Given the description of an element on the screen output the (x, y) to click on. 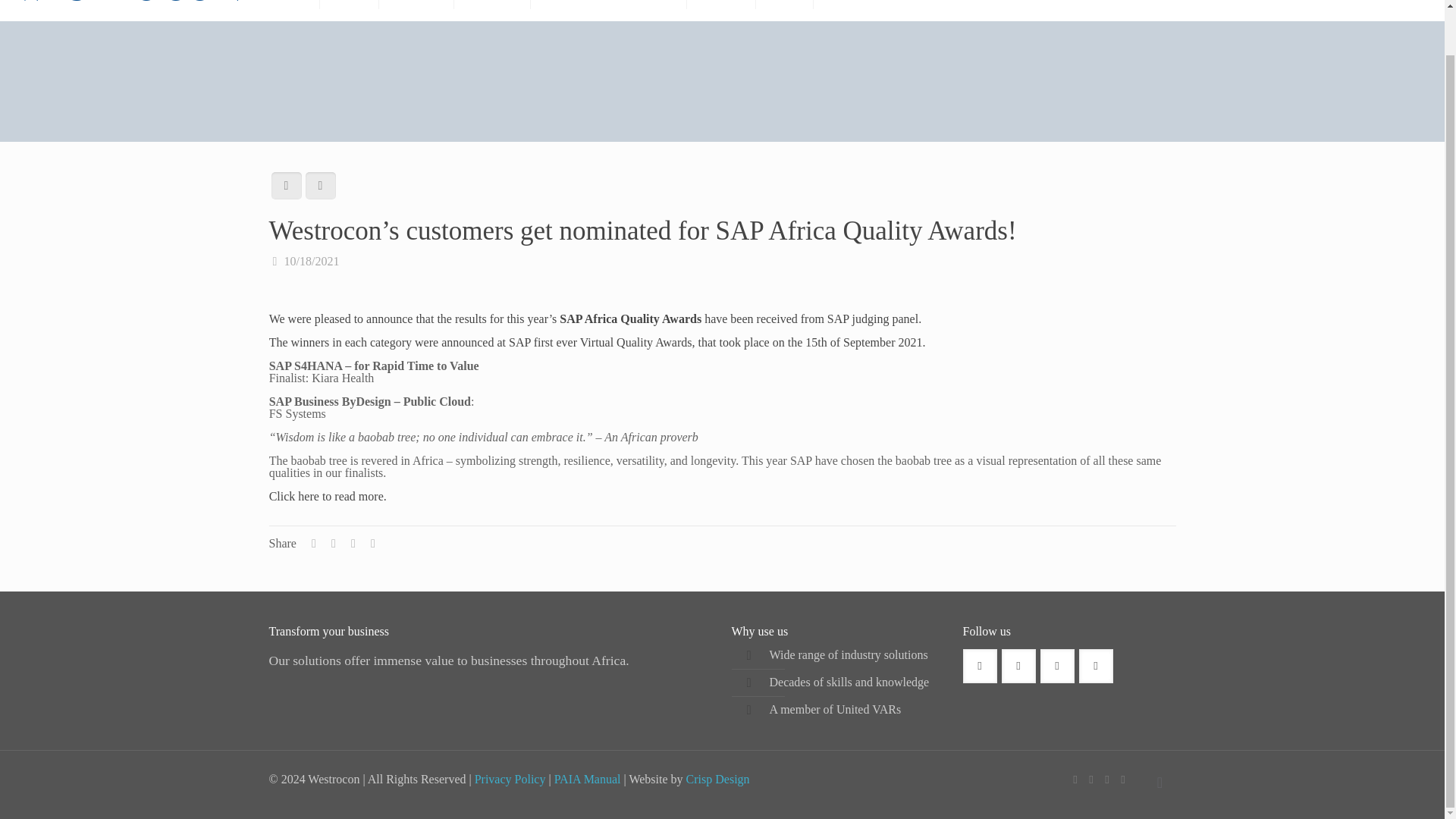
About (349, 10)
Contact (846, 10)
Solutions (416, 10)
Home (290, 10)
Careers (721, 10)
Westrocon (126, 10)
News (784, 10)
TikTok (1123, 779)
Customer Success Stories (609, 10)
Facebook (1074, 779)
YouTube (1091, 779)
Industries (492, 10)
LinkedIn (1106, 779)
